Given the description of an element on the screen output the (x, y) to click on. 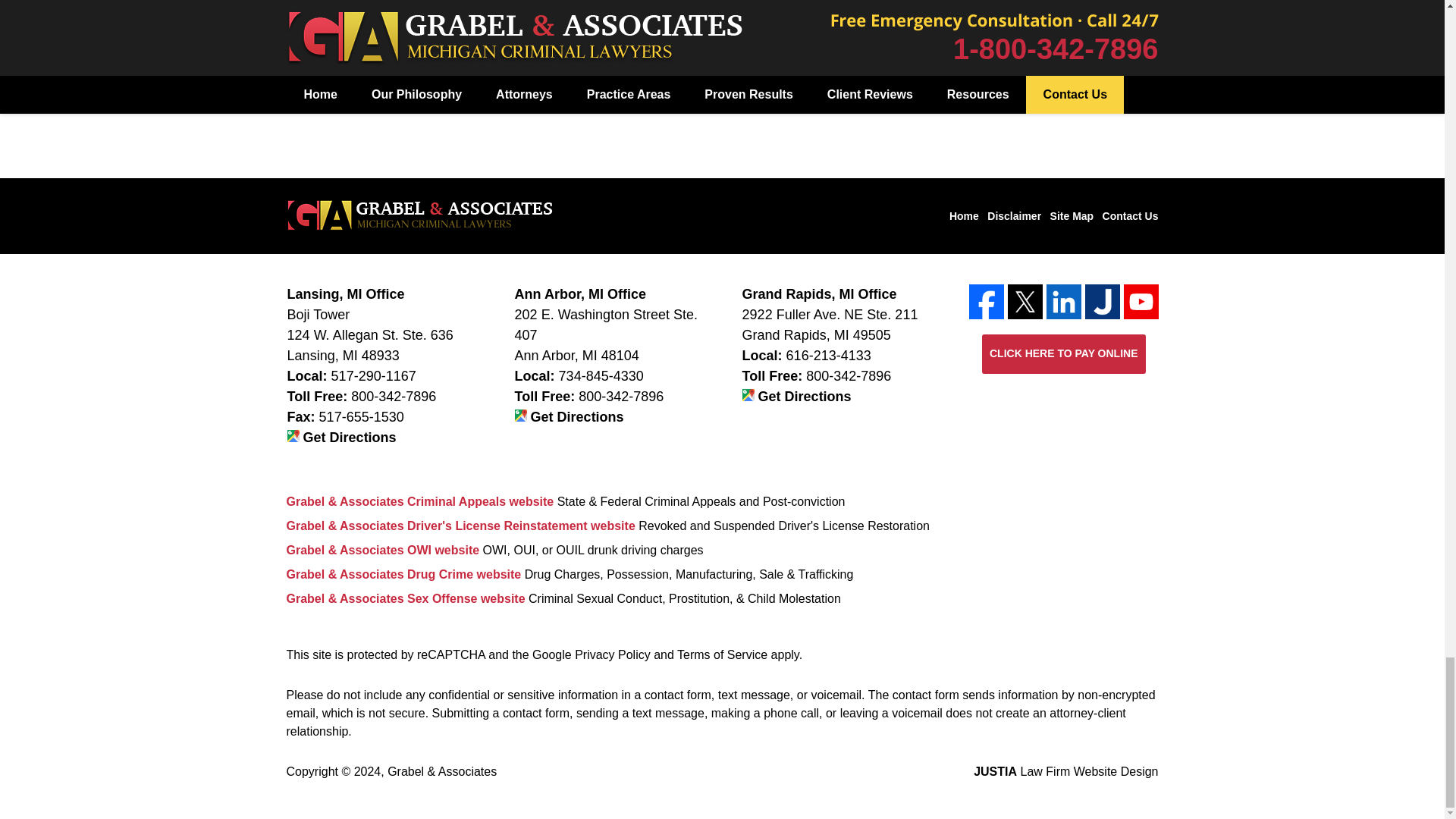
Twitter (1024, 301)
Facebook (986, 301)
Justia (1101, 301)
LinkedIn (1063, 301)
YouTube (1141, 301)
